Given the description of an element on the screen output the (x, y) to click on. 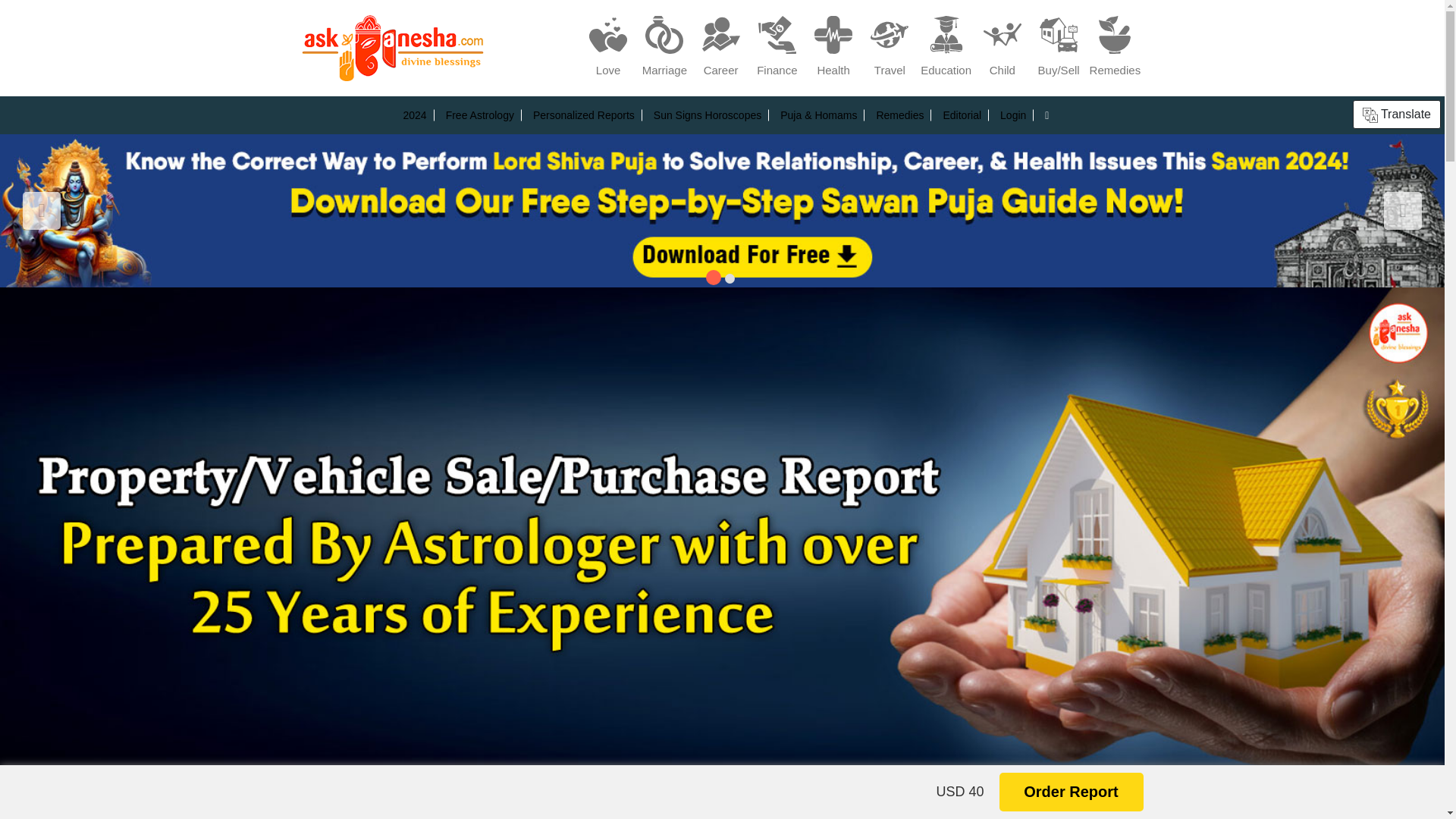
Free Astrology (479, 115)
2024 (413, 115)
